Given the description of an element on the screen output the (x, y) to click on. 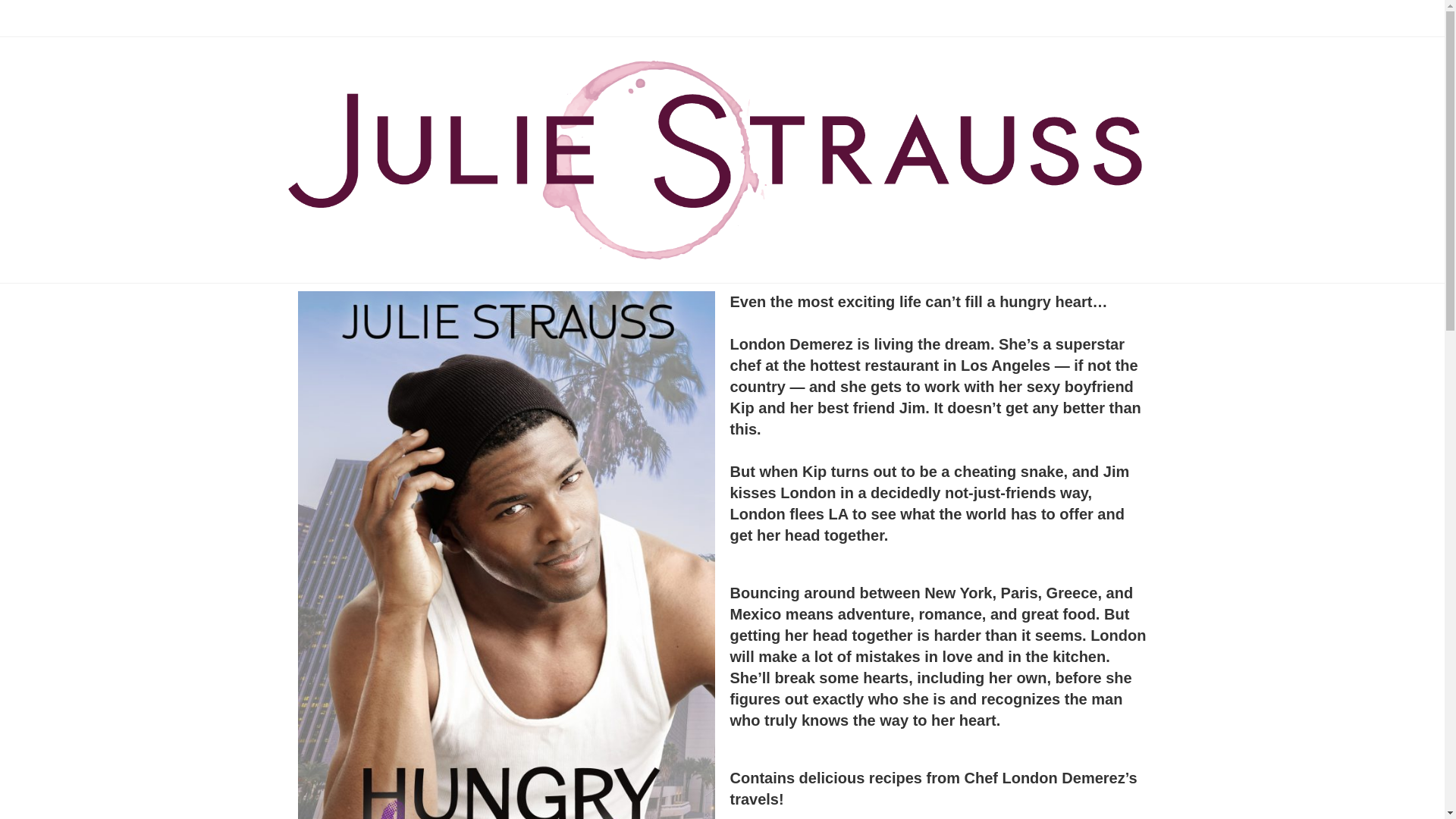
Home (1157, 17)
